Given the description of an element on the screen output the (x, y) to click on. 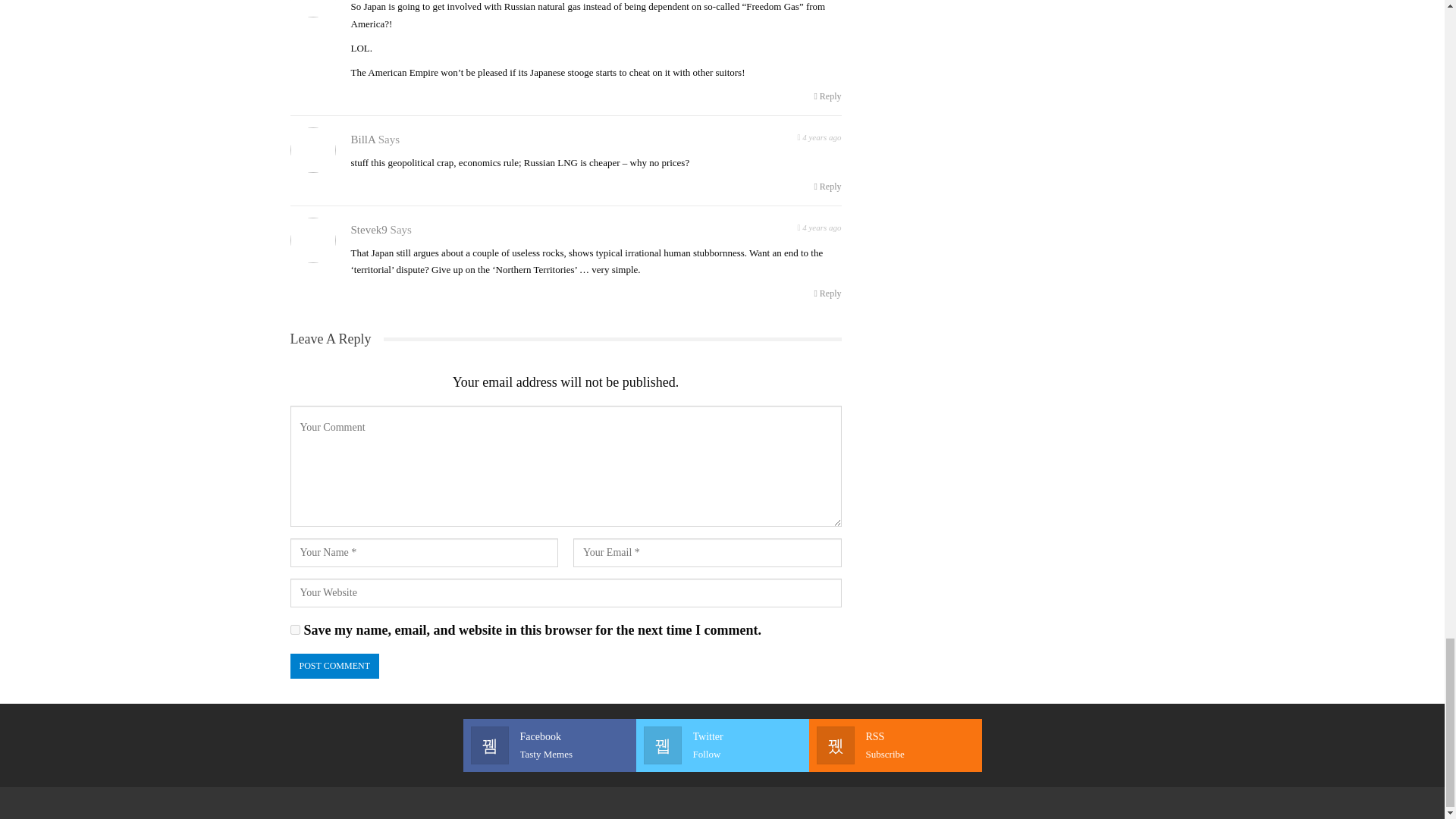
Post Comment (333, 665)
Reply (827, 186)
Wednesday, December 30, 2020, 4:12 am (818, 135)
yes (721, 745)
Reply (548, 745)
Reply (294, 629)
Wednesday, December 30, 2020, 4:12 am (827, 293)
